Given the description of an element on the screen output the (x, y) to click on. 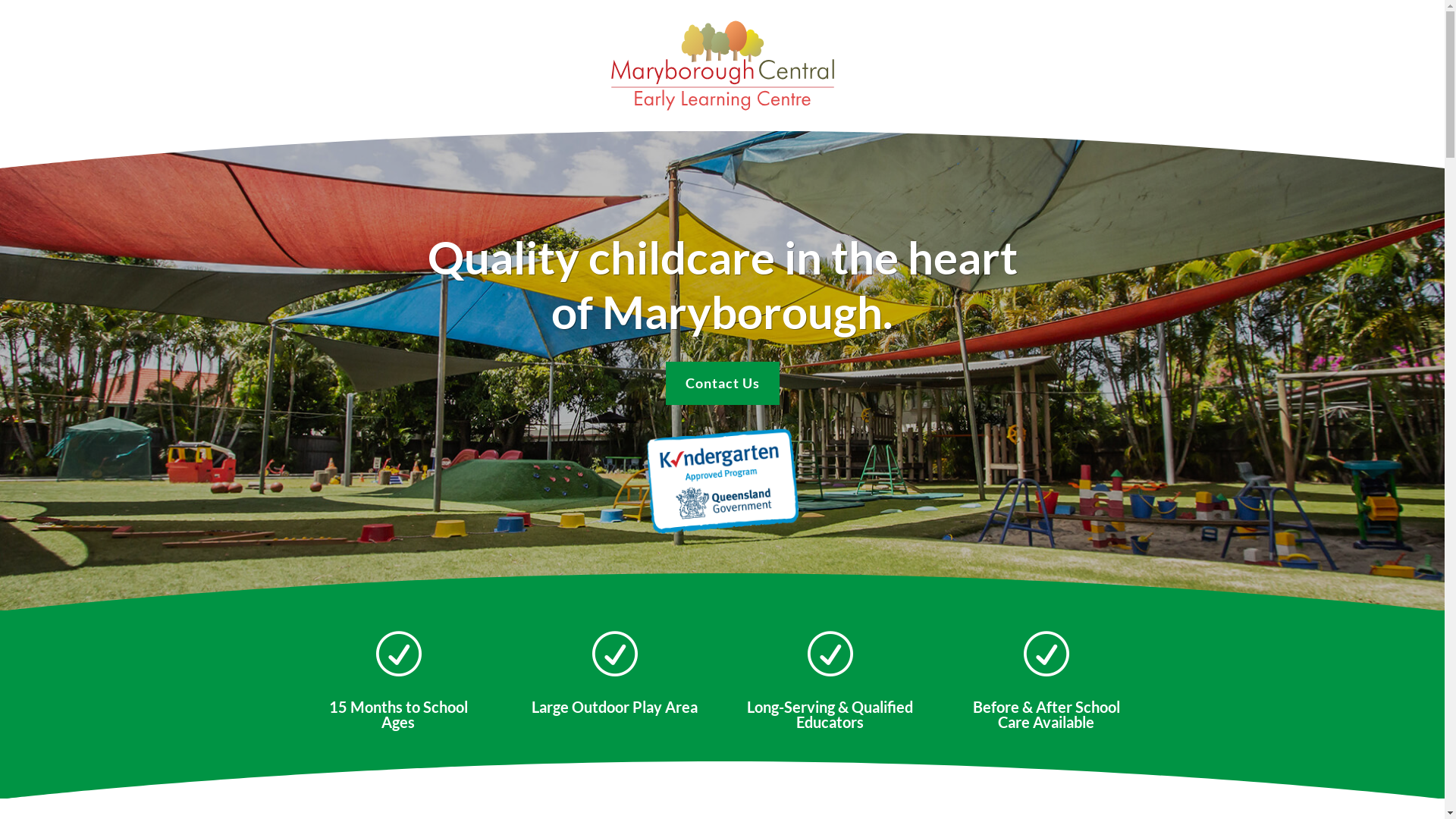
Contact Us Element type: text (722, 382)
